Given the description of an element on the screen output the (x, y) to click on. 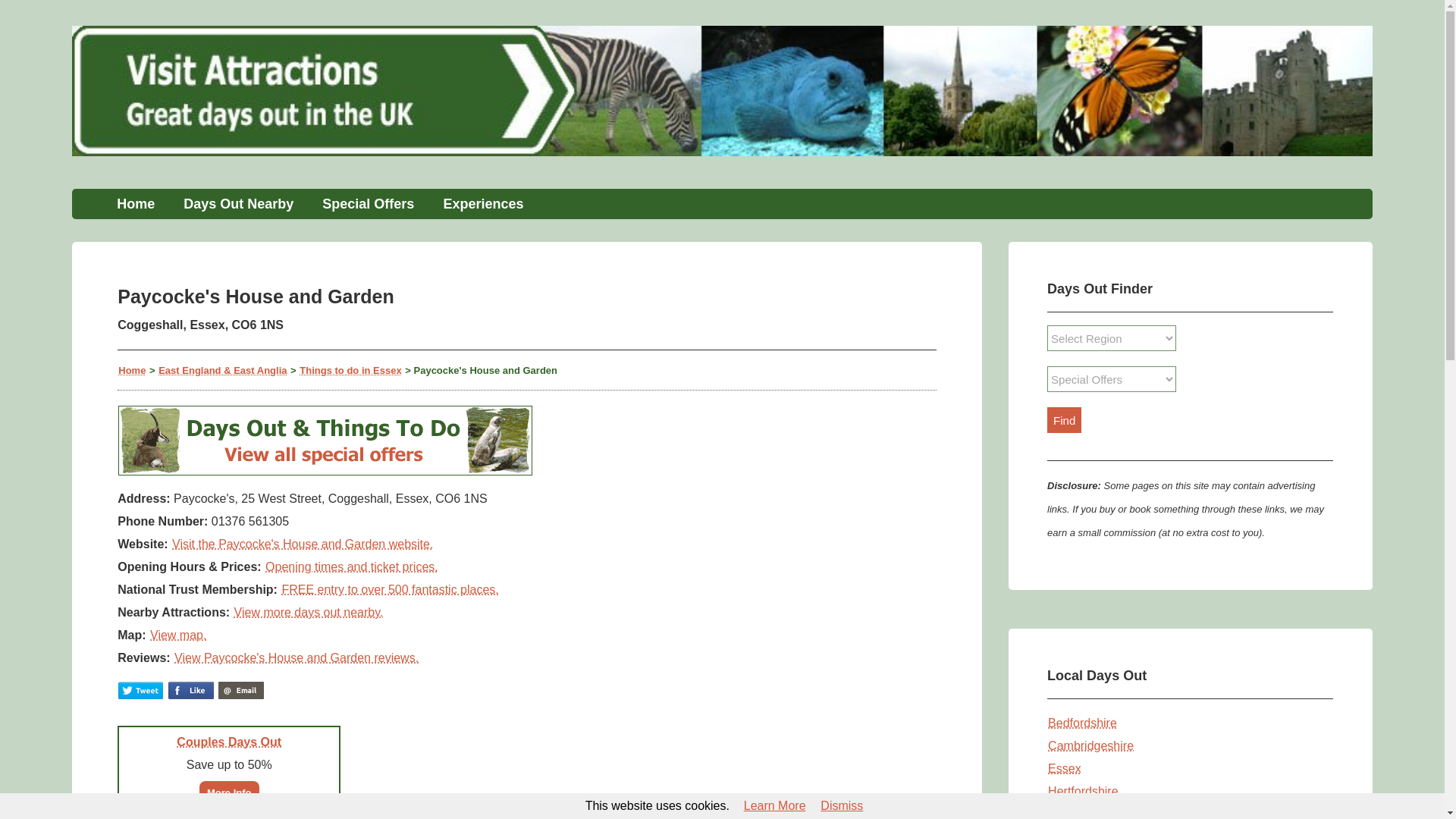
Special Offers (367, 204)
View Paycocke's House and Garden reviews. (296, 656)
View more days out nearby. (308, 611)
Home (134, 204)
Dismiss (841, 805)
Bedfordshire (1082, 722)
Home (132, 369)
FREE entry to over 500 fantastic places. (390, 588)
Learn More (774, 805)
Visit the Paycocke's House and Garden website. (302, 543)
